Given the description of an element on the screen output the (x, y) to click on. 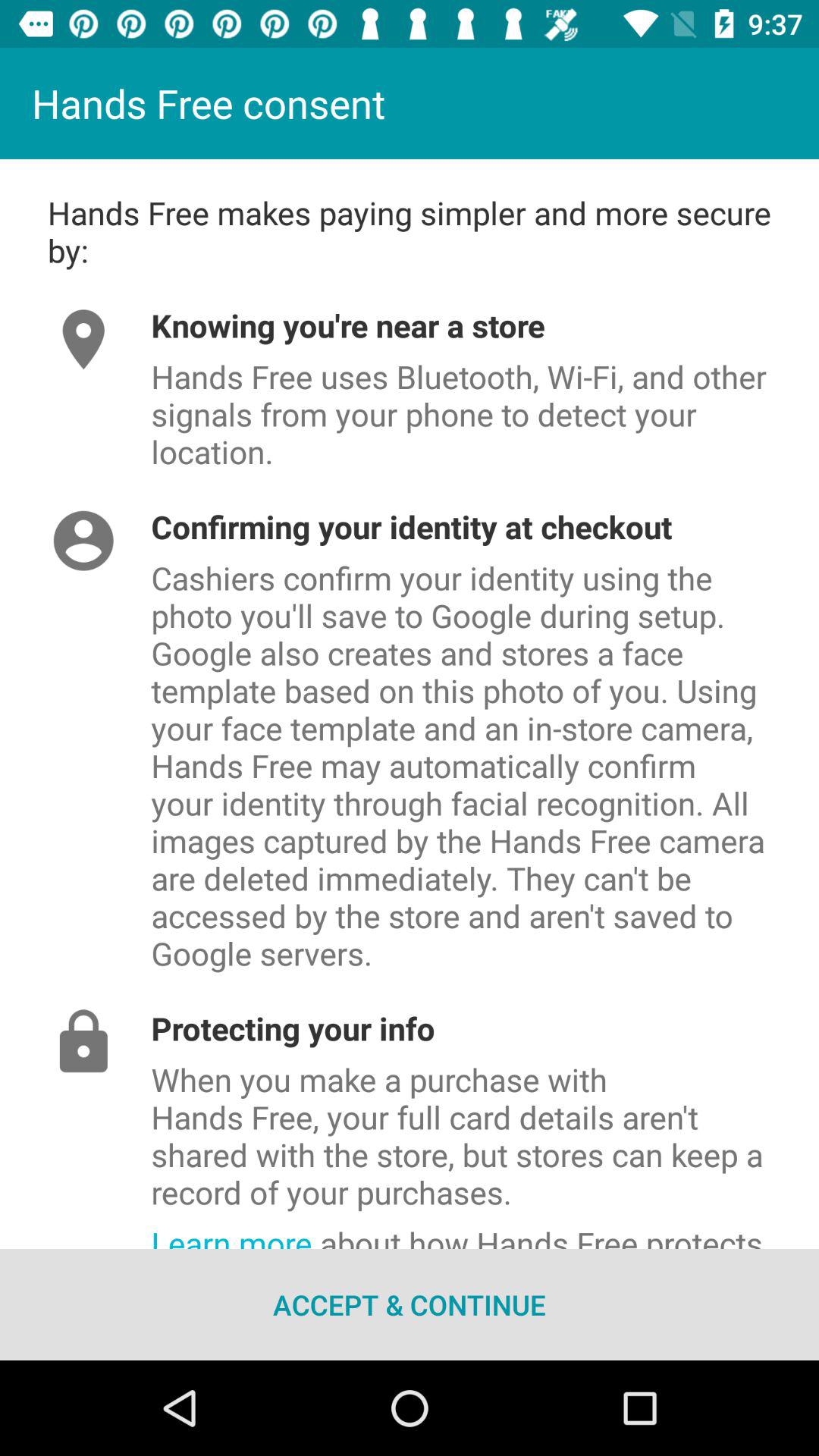
flip until the accept & continue (409, 1304)
